Given the description of an element on the screen output the (x, y) to click on. 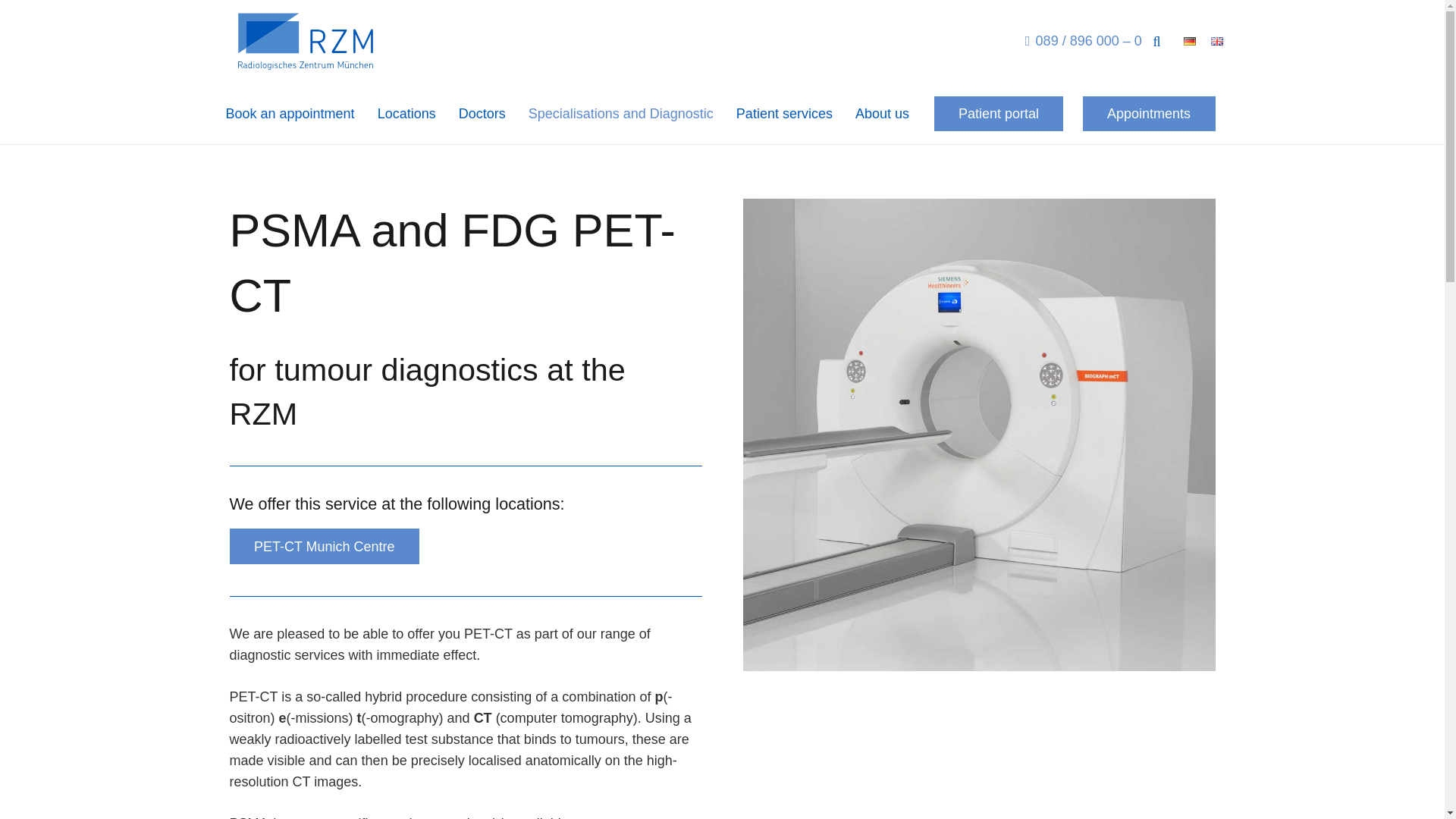
Doctors (481, 113)
About us (882, 113)
Specialisations and Diagnostic (620, 113)
Patient services (784, 113)
Book an appointment (289, 113)
Locations (406, 113)
Im Isar Klinikum (323, 546)
